Given the description of an element on the screen output the (x, y) to click on. 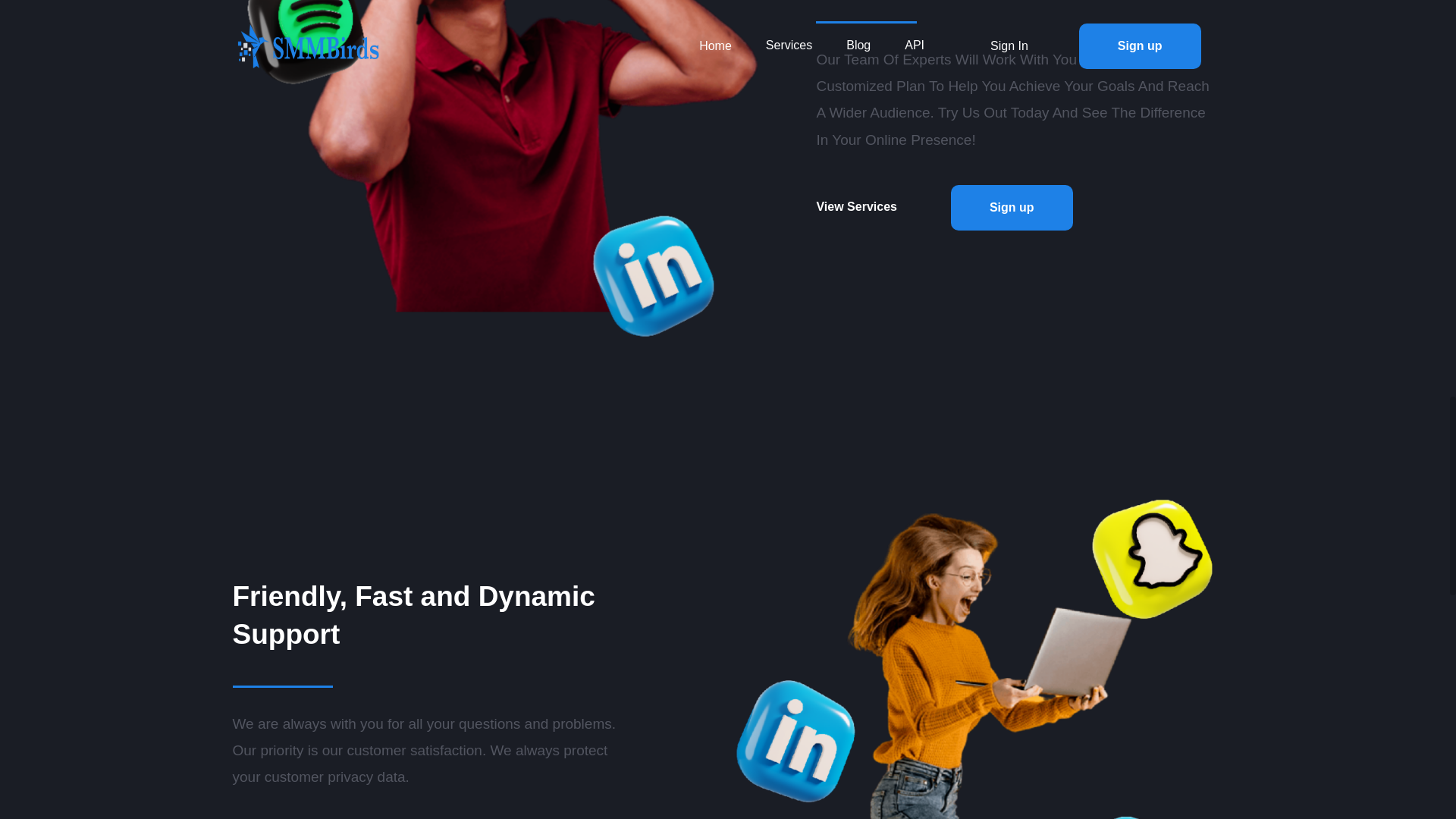
View Services (874, 207)
Sign up (1011, 207)
